Given the description of an element on the screen output the (x, y) to click on. 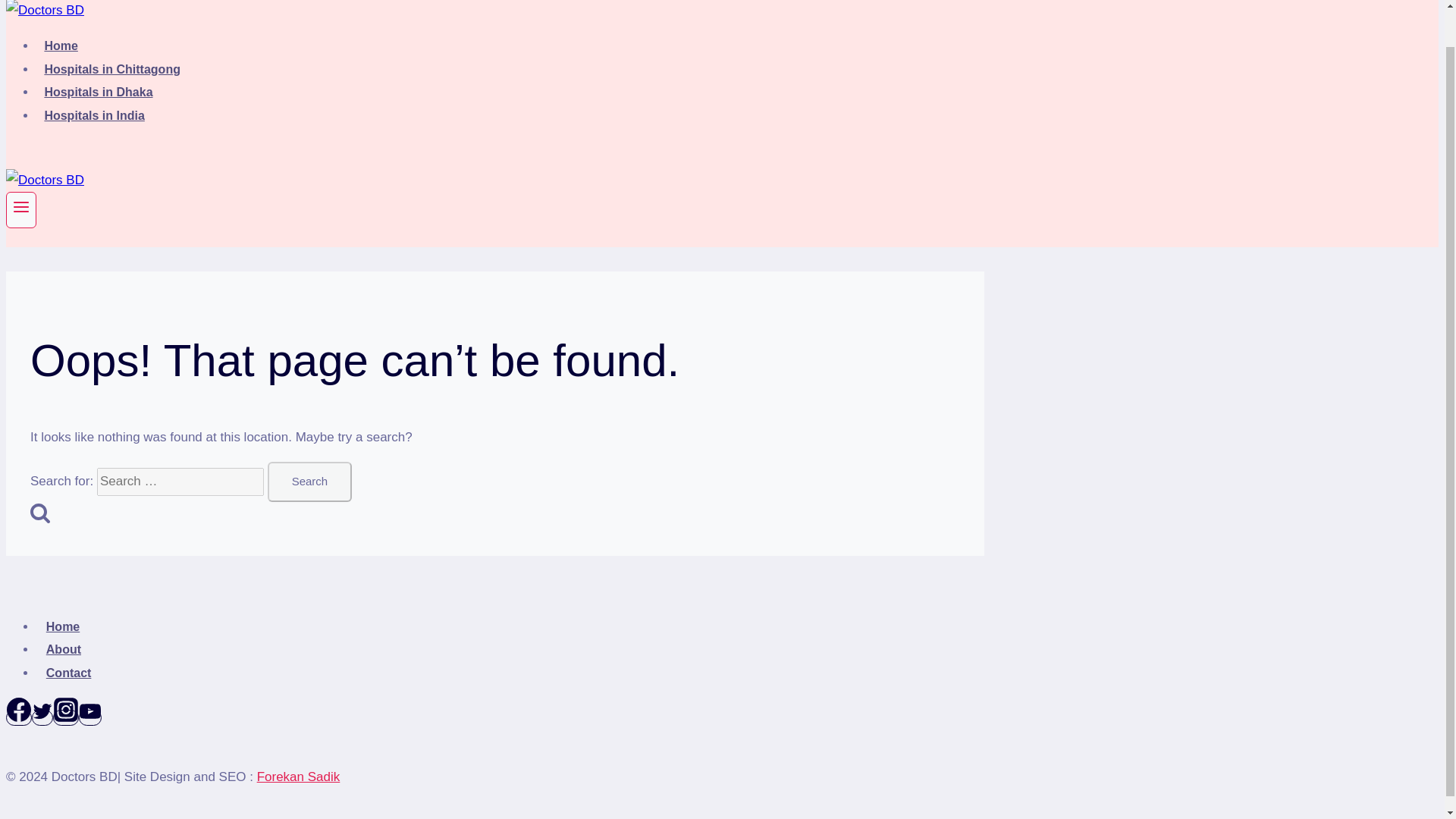
Home (62, 626)
Search (39, 512)
Toggle Menu (20, 207)
Twitter (42, 717)
Instagram (65, 717)
Forekan Sadik (298, 776)
About (63, 649)
Twitter (42, 711)
Search (309, 481)
YouTube (90, 711)
